Given the description of an element on the screen output the (x, y) to click on. 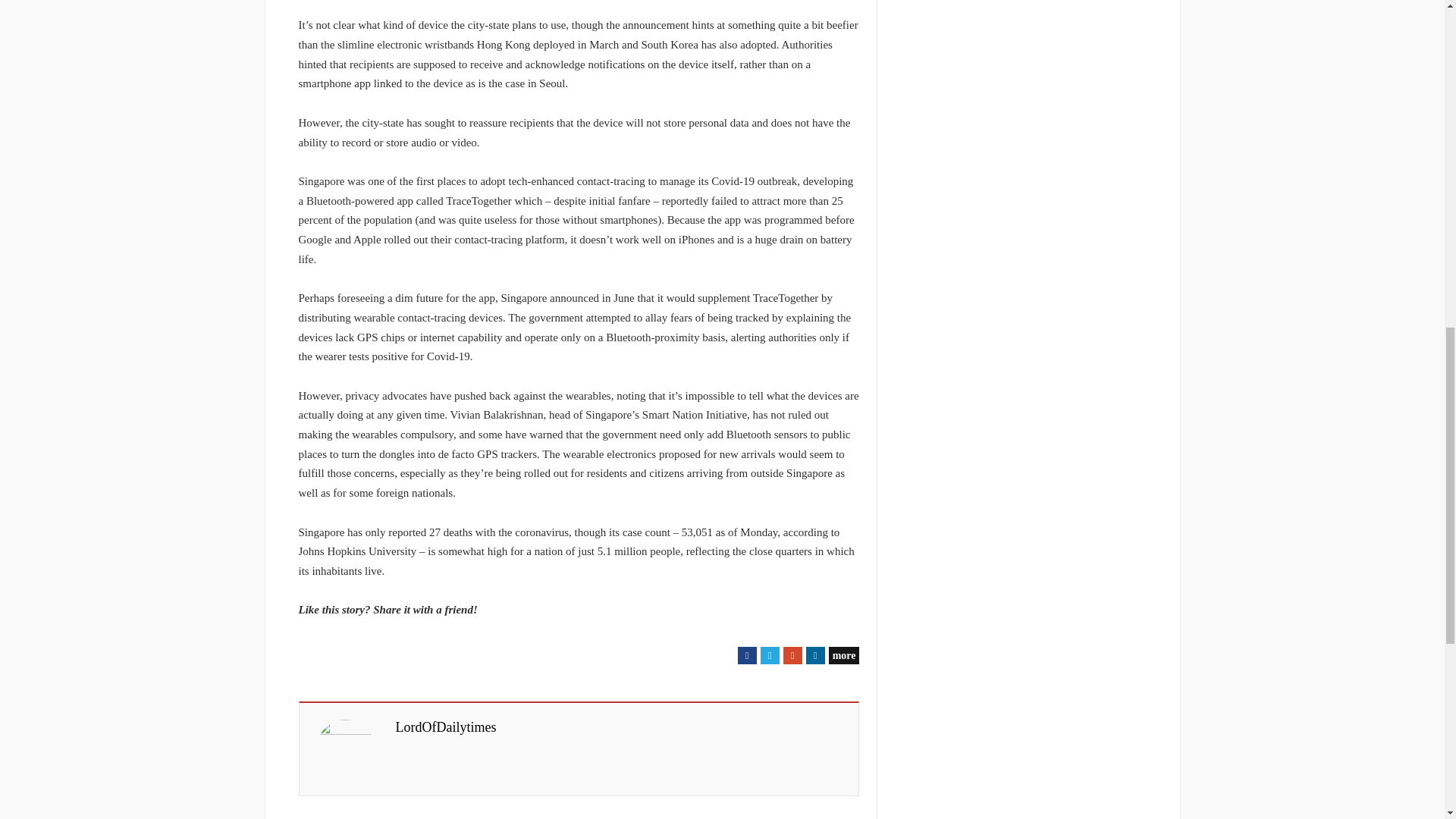
Tweet It (769, 655)
LinkedIn (815, 655)
Share on LinkedIn (815, 655)
Facebook (747, 655)
Share on Facebook (747, 655)
LordOfDailytimes (446, 727)
Posts by LordOfDailytimes (446, 727)
more (844, 655)
Twitter (769, 655)
